Given the description of an element on the screen output the (x, y) to click on. 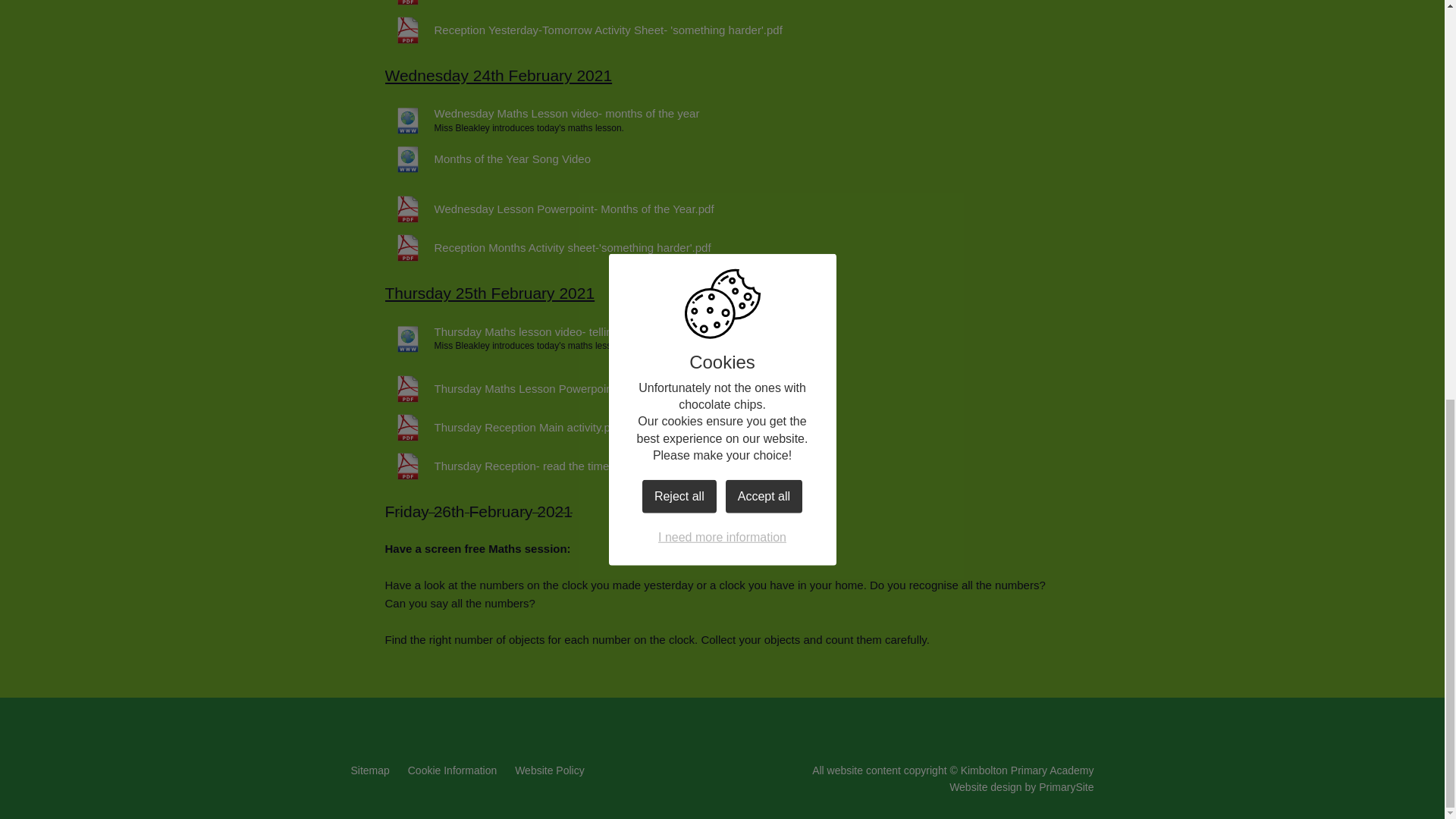
Reception Months Activity sheet-'something harder'.pdf (548, 247)
Thursday Maths Lesson Powerpoint.pdf (509, 388)
Wednesday Lesson Powerpoint- Months of the Year.pdf (549, 208)
Wednesday Maths Lesson video- months of the year (542, 113)
Months of the Year Song Video (488, 158)
Thursday Reception Main activity.pdf (502, 427)
Thursday Maths lesson video- telling the time to the hour (552, 331)
Reception Days of the Week activity 'main activity'.pdf (544, 4)
